Given the description of an element on the screen output the (x, y) to click on. 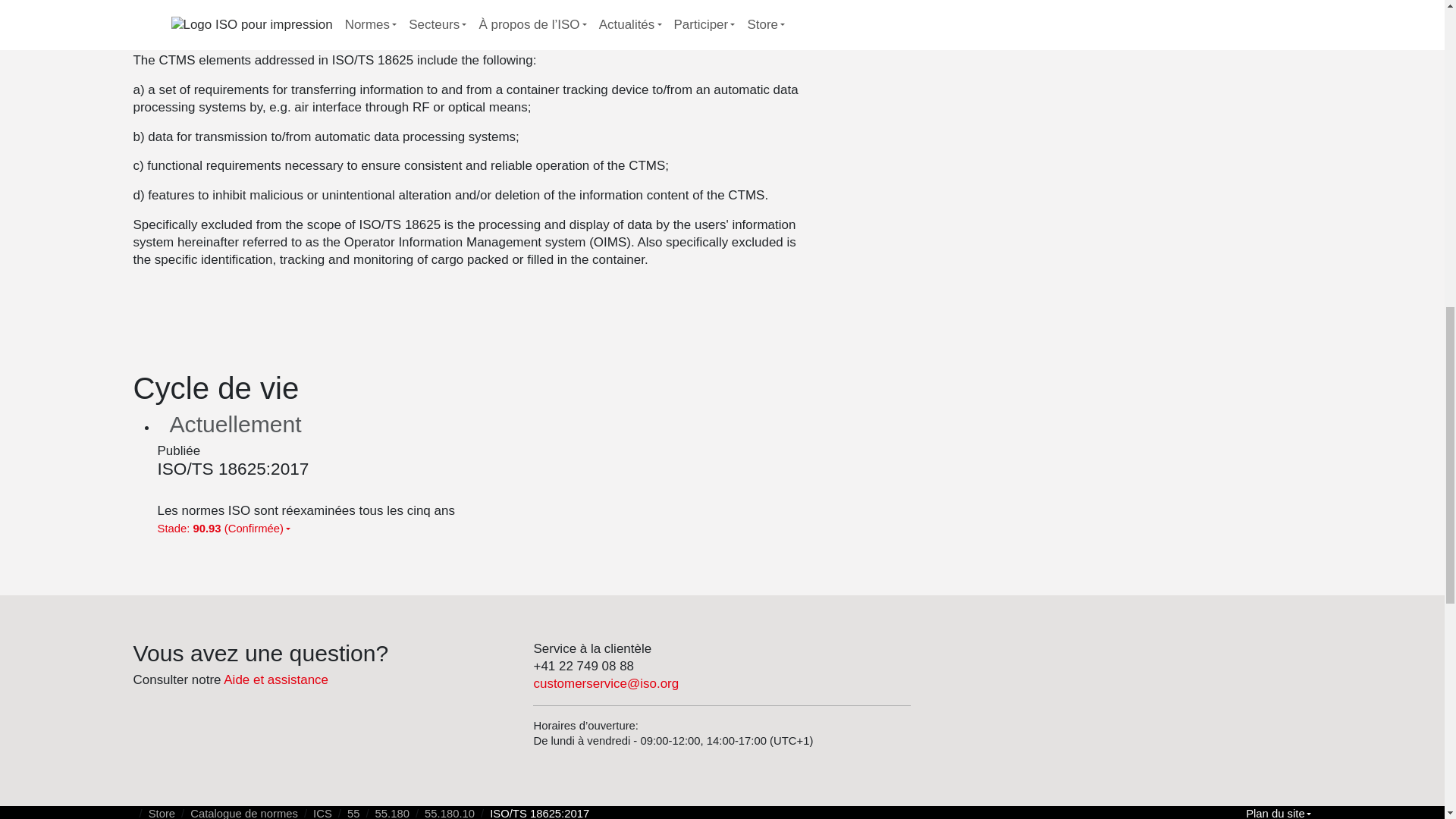
help-support (276, 679)
